Given the description of an element on the screen output the (x, y) to click on. 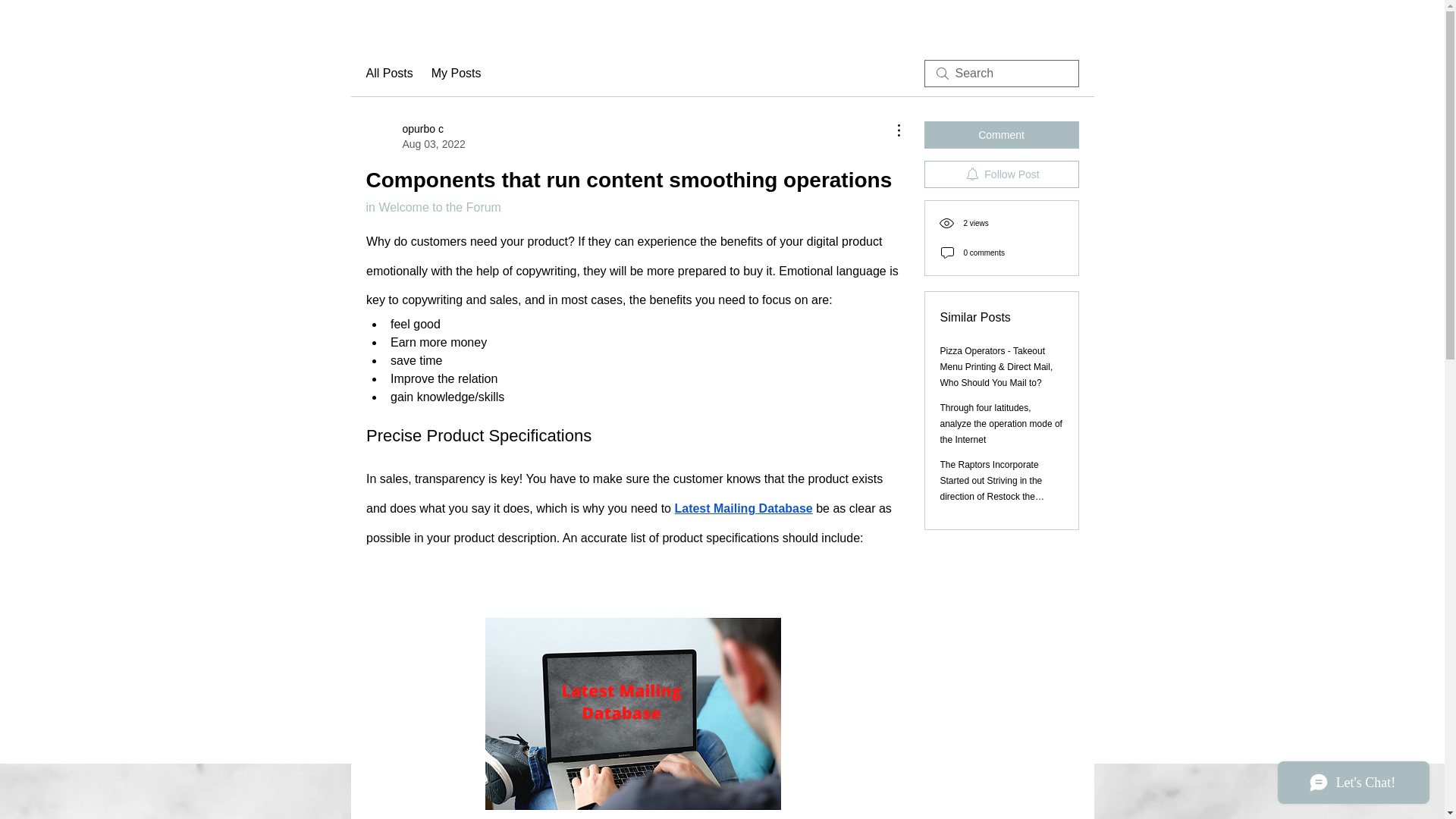
Latest Mailing Database (743, 508)
Follow Post (414, 136)
My Posts (1000, 174)
in Welcome to the Forum (455, 73)
Comment (432, 206)
All Posts (1000, 134)
